Given the description of an element on the screen output the (x, y) to click on. 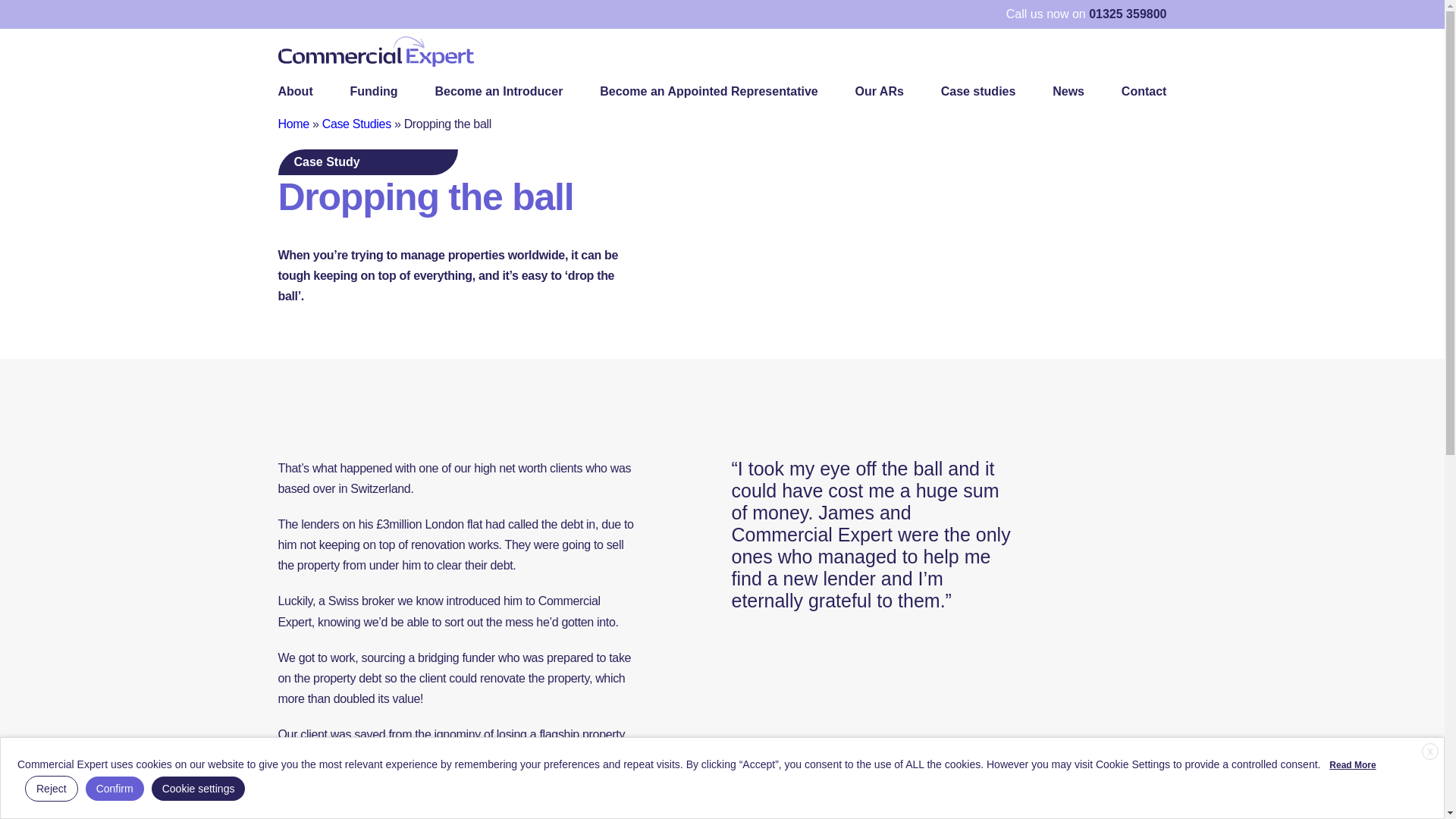
Confirm (114, 788)
Become an Introducer (497, 91)
About (295, 91)
Become an Appointed Representative (707, 91)
News (1068, 91)
Case Studies (356, 123)
01325 359800 (1127, 13)
Case studies (978, 91)
X (1430, 751)
Close and Accept (1430, 751)
